Given the description of an element on the screen output the (x, y) to click on. 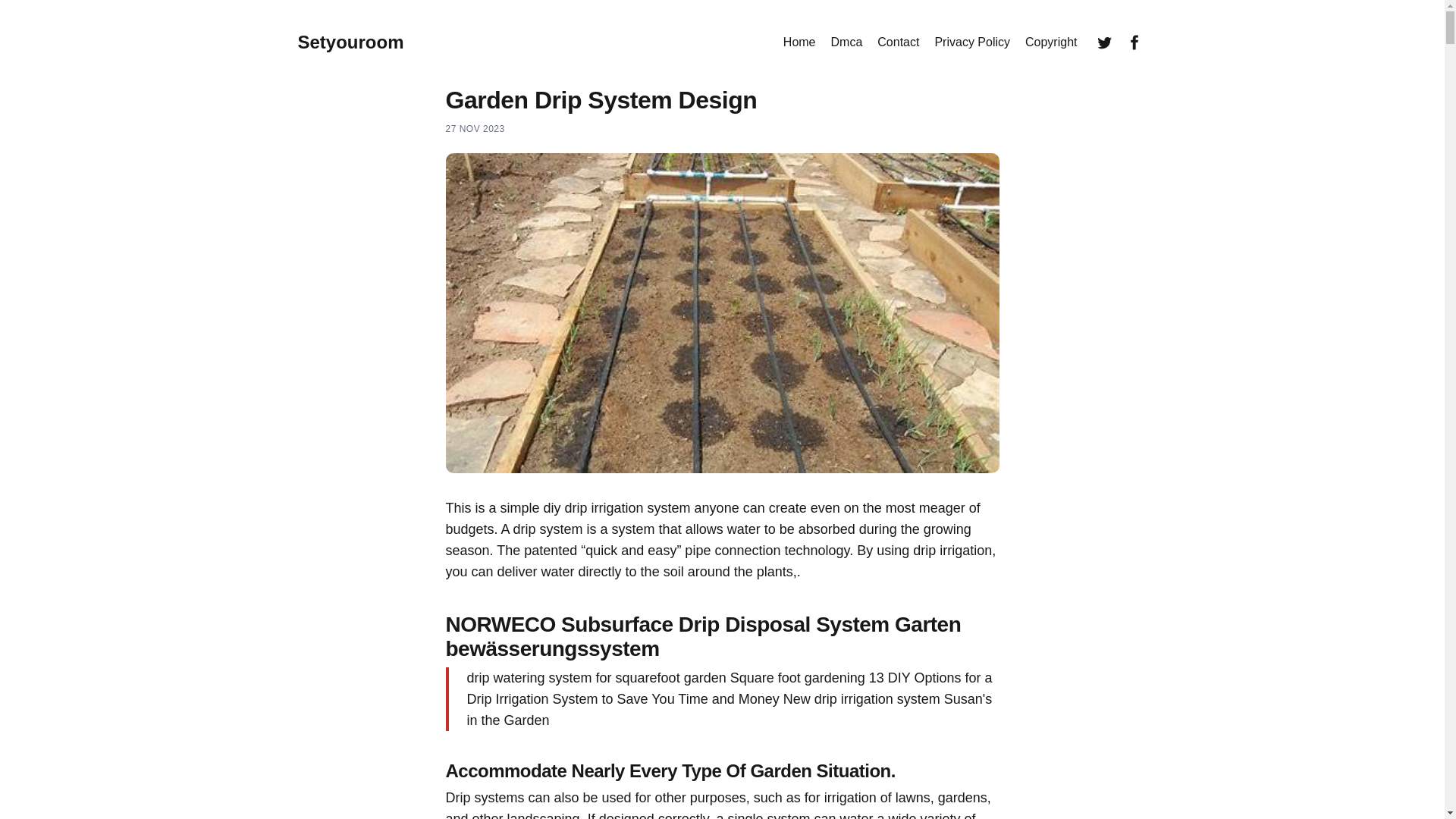
Privacy Policy (972, 42)
Dmca (847, 42)
Contact (897, 42)
Facebook (1134, 42)
Setyouroom (350, 42)
Twitter (1104, 42)
Home (799, 42)
Copyright (1051, 42)
